Given the description of an element on the screen output the (x, y) to click on. 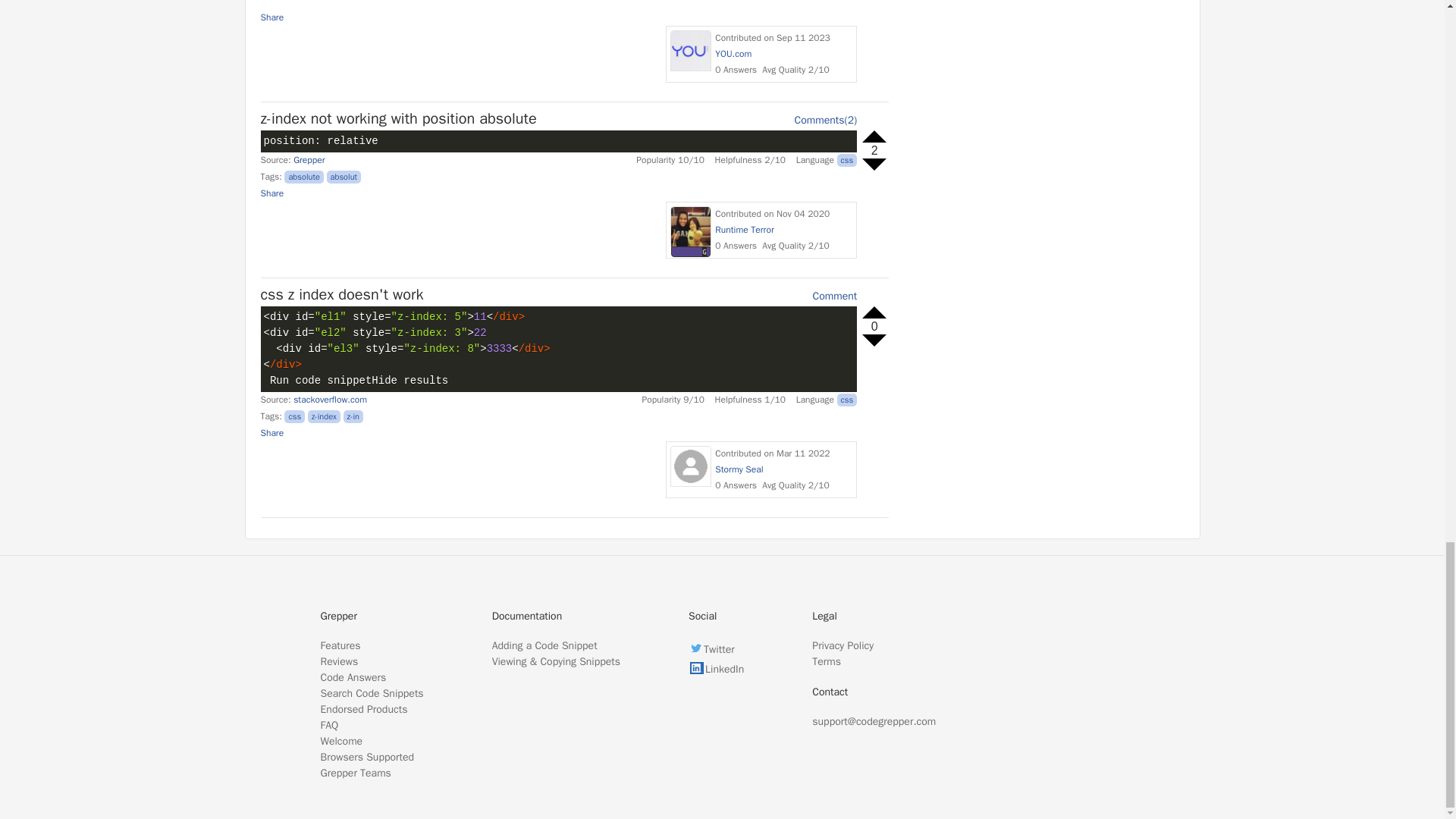
View YOU.com's Profile (690, 50)
position: relative (570, 152)
